Given the description of an element on the screen output the (x, y) to click on. 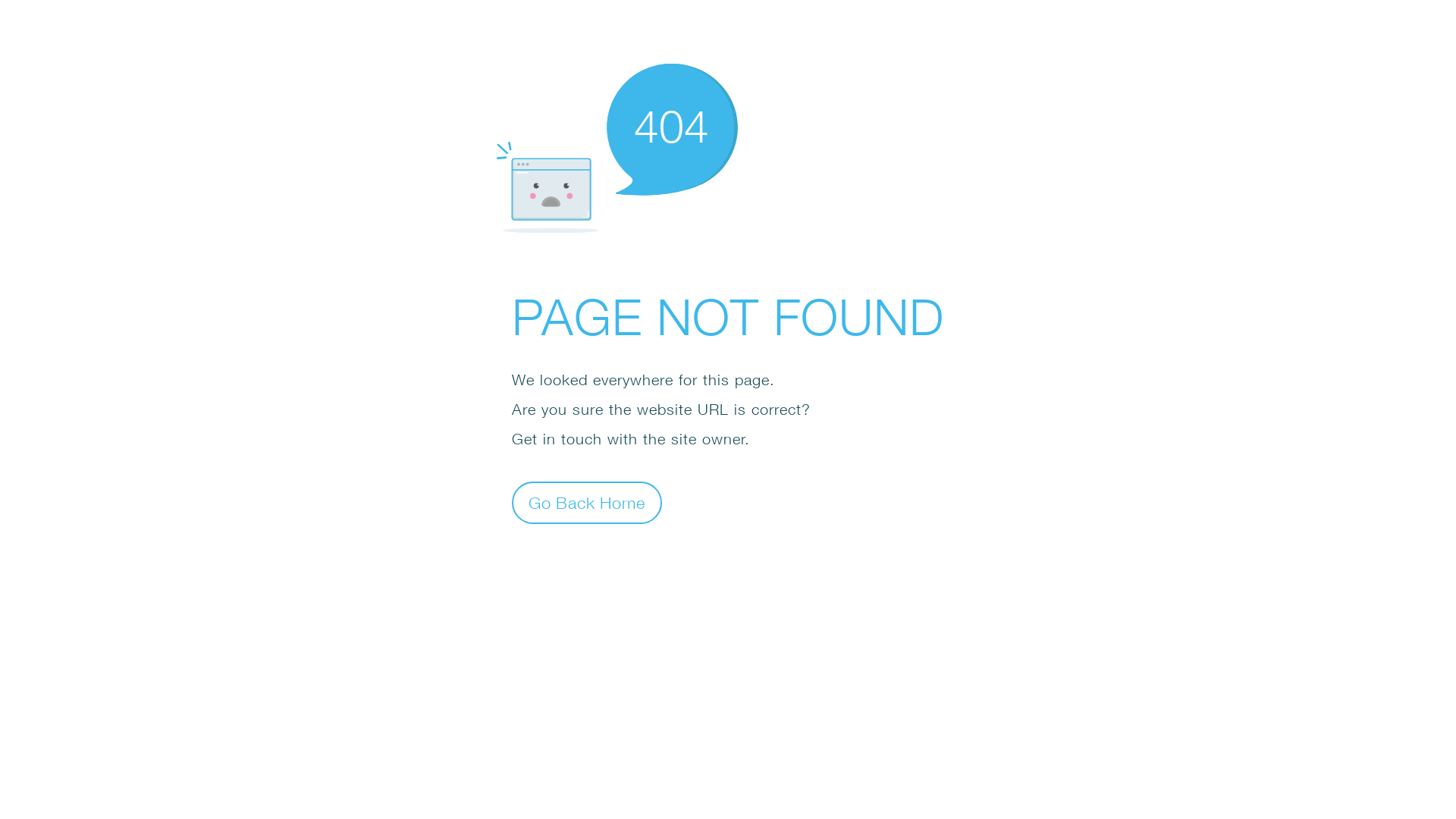
Go Back Home Element type: text (586, 502)
